Given the description of an element on the screen output the (x, y) to click on. 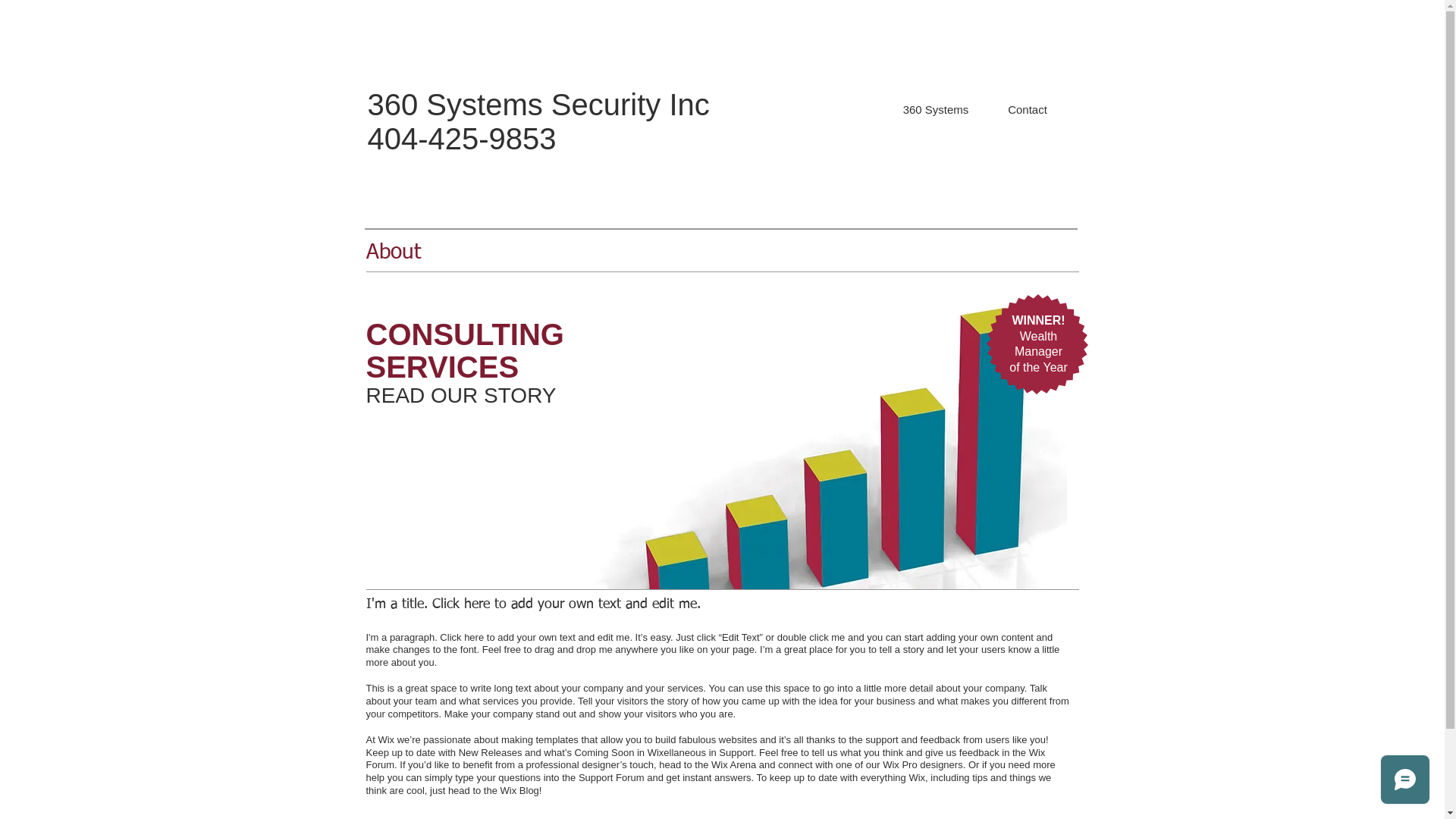
Contact Element type: text (1027, 109)
360 Systems Element type: text (936, 109)
